Given the description of an element on the screen output the (x, y) to click on. 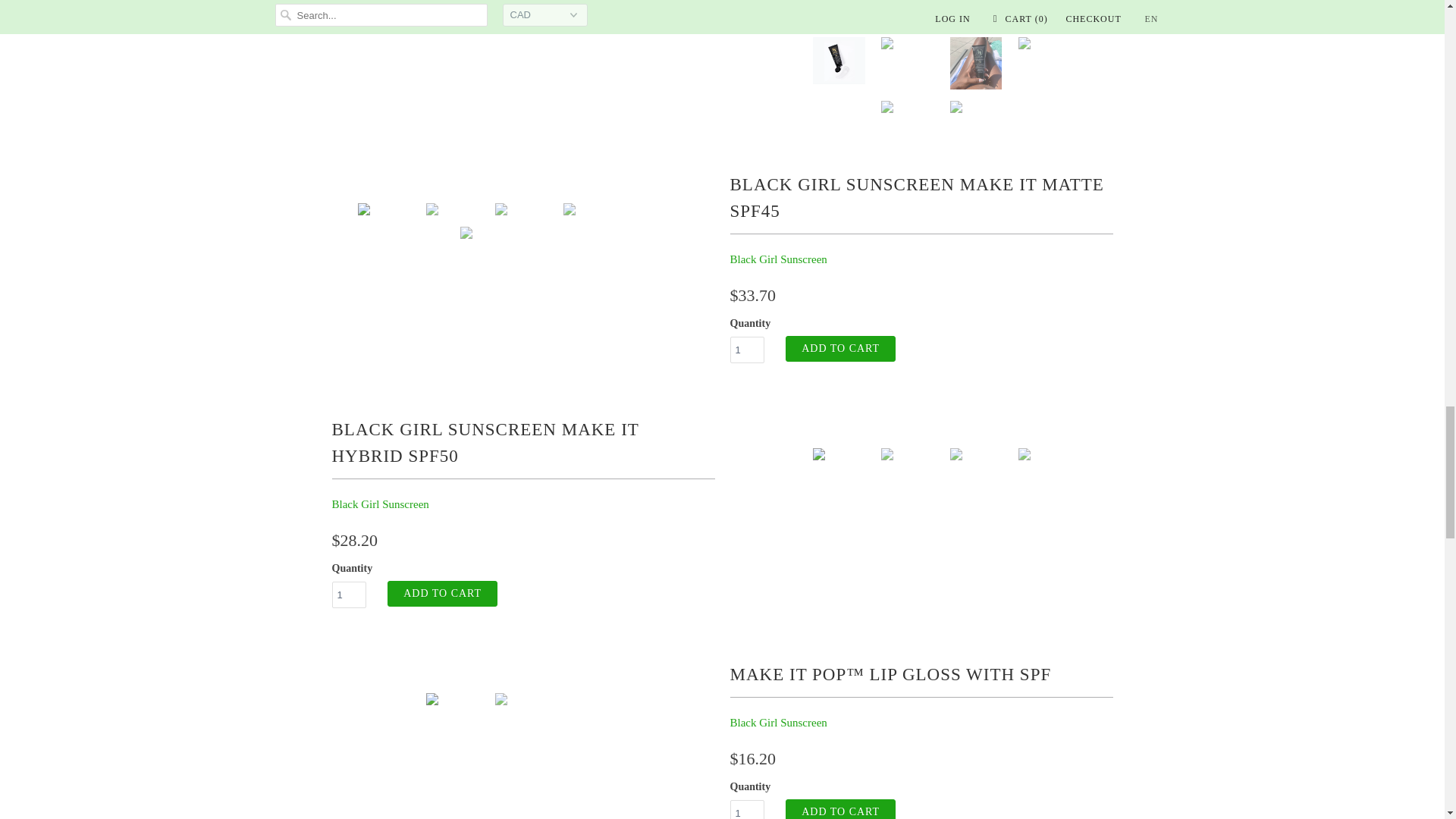
1 (745, 349)
1 (348, 594)
1 (745, 809)
